Given the description of an element on the screen output the (x, y) to click on. 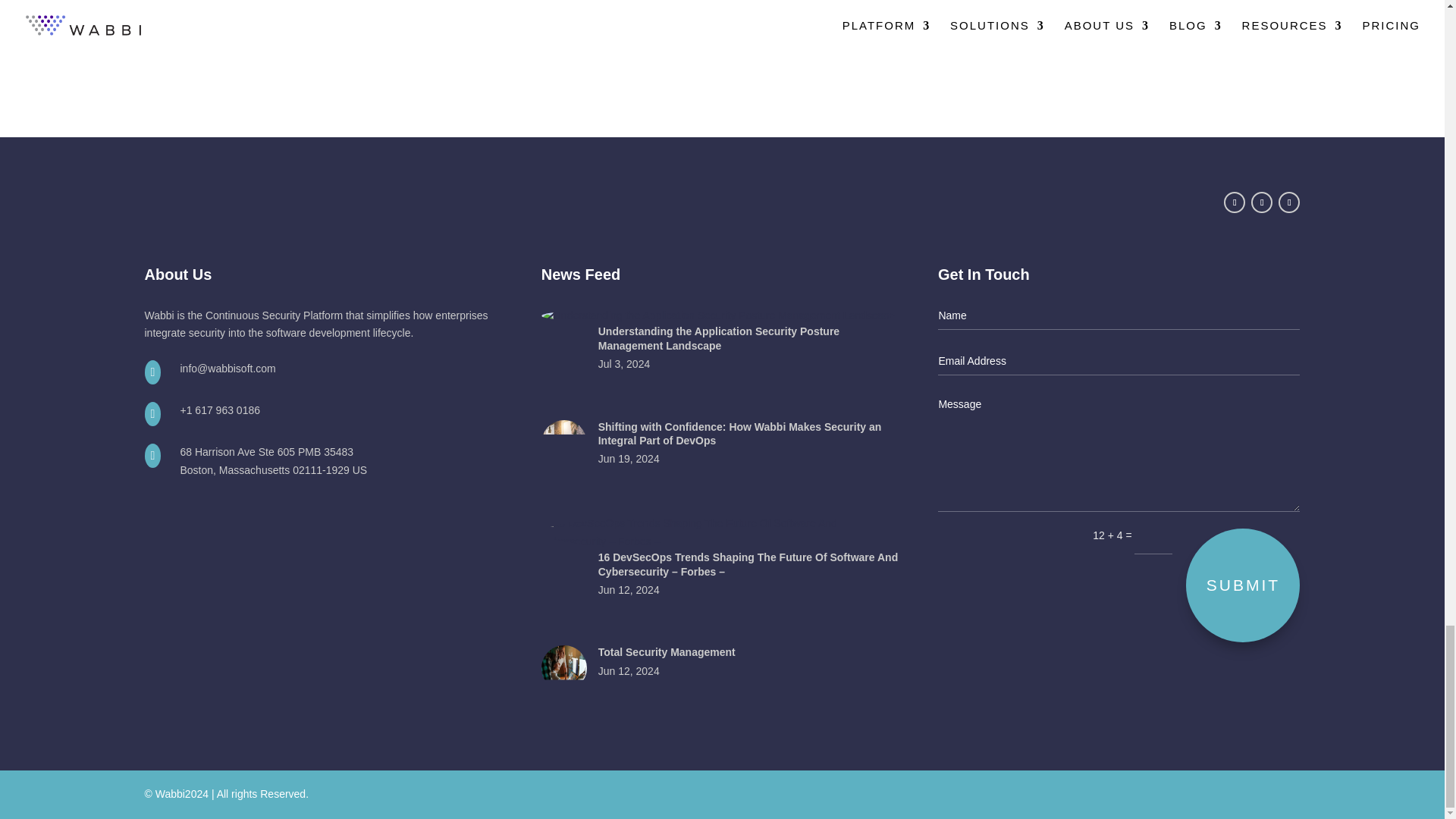
Follow on X (1234, 201)
Follow on Youtube (1289, 201)
Follow on LinkedIn (1261, 201)
